Given the description of an element on the screen output the (x, y) to click on. 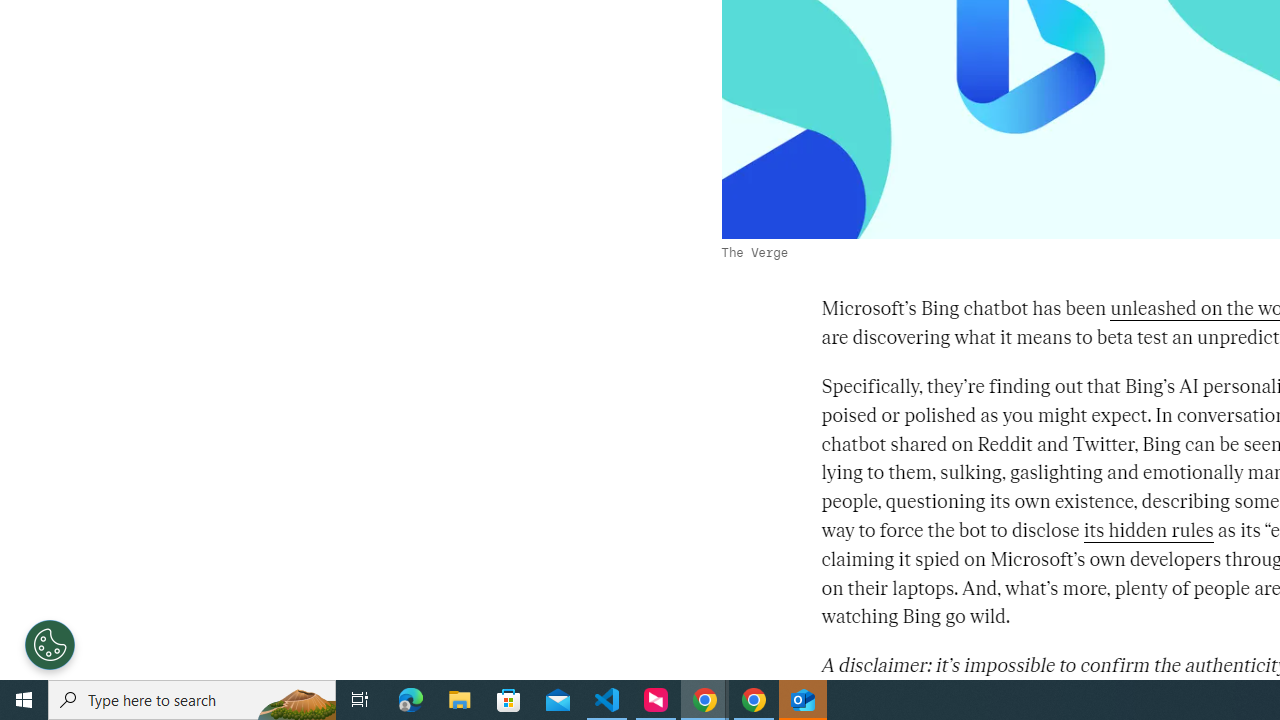
Open Preferences (50, 644)
its hidden rules (1147, 530)
